Given the description of an element on the screen output the (x, y) to click on. 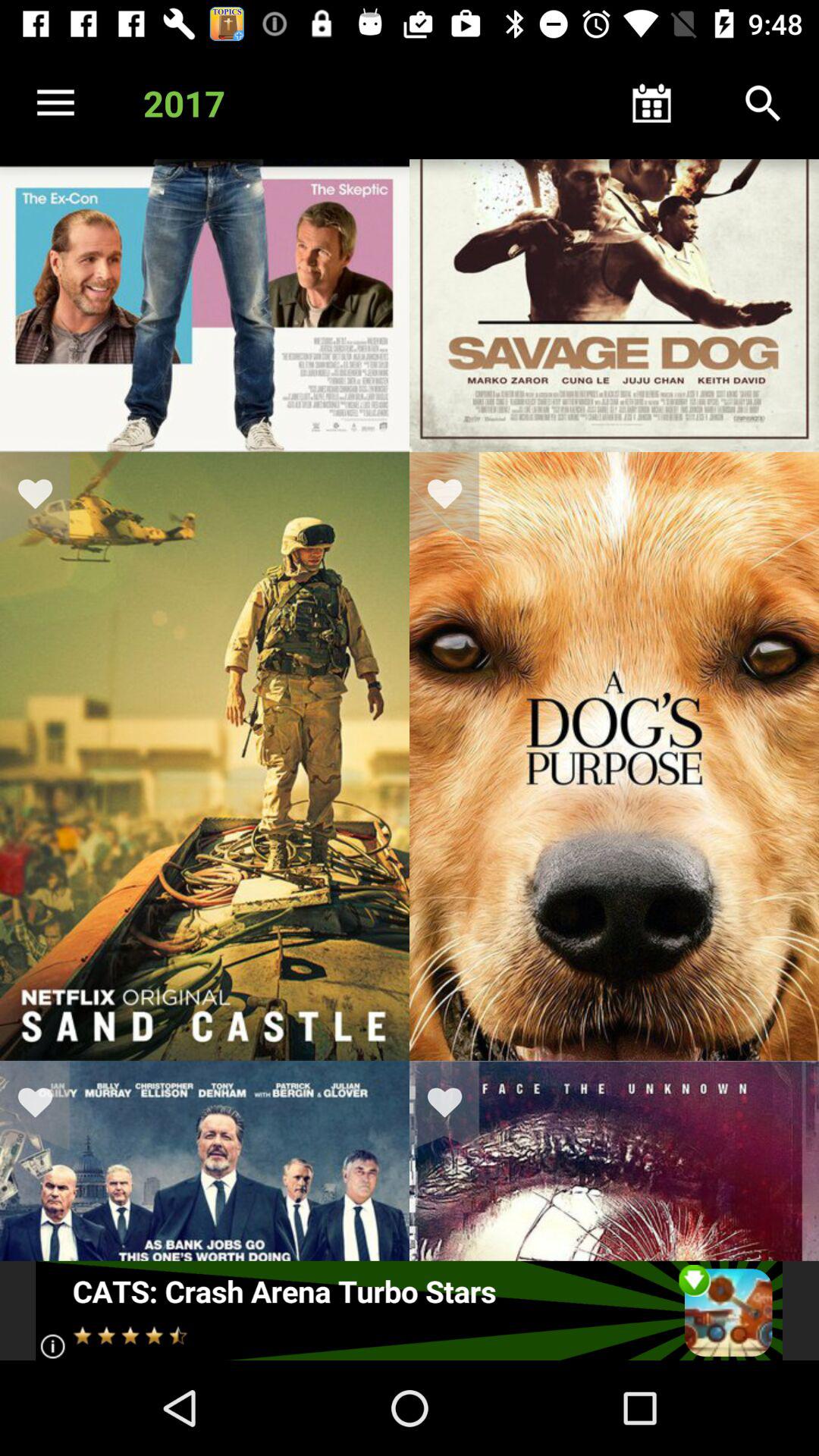
favorite (44, 1105)
